Given the description of an element on the screen output the (x, y) to click on. 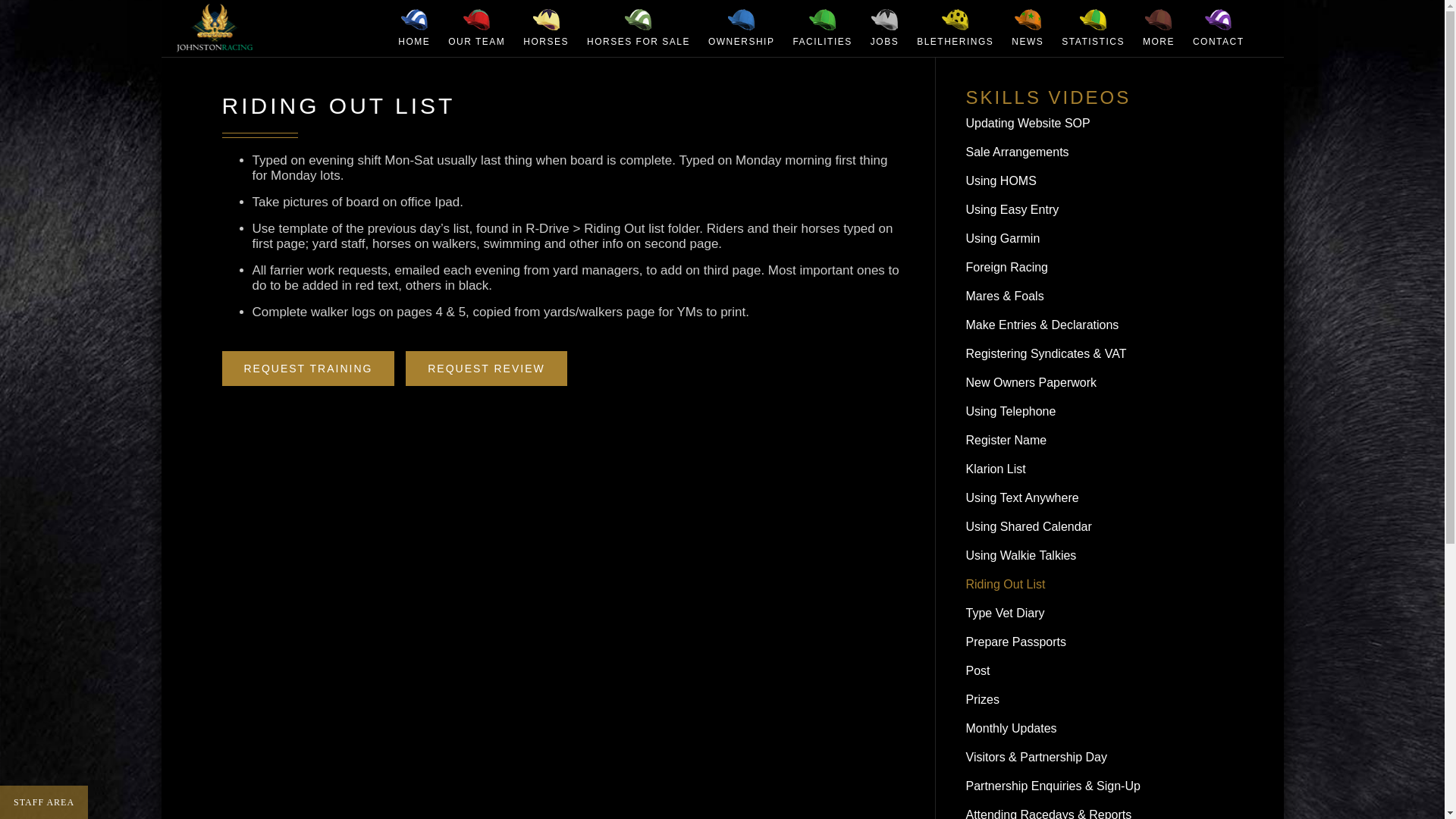
Using Easy Entry (1094, 211)
HORSES (545, 28)
OWNERSHIP (741, 28)
BLETHERINGS (955, 28)
OUR TEAM (476, 28)
HORSES FOR SALE (638, 28)
Sale Arrangements (1094, 153)
Using Garmin (1094, 240)
Using HOMS (1094, 182)
STATISTICS (1093, 28)
